Given the description of an element on the screen output the (x, y) to click on. 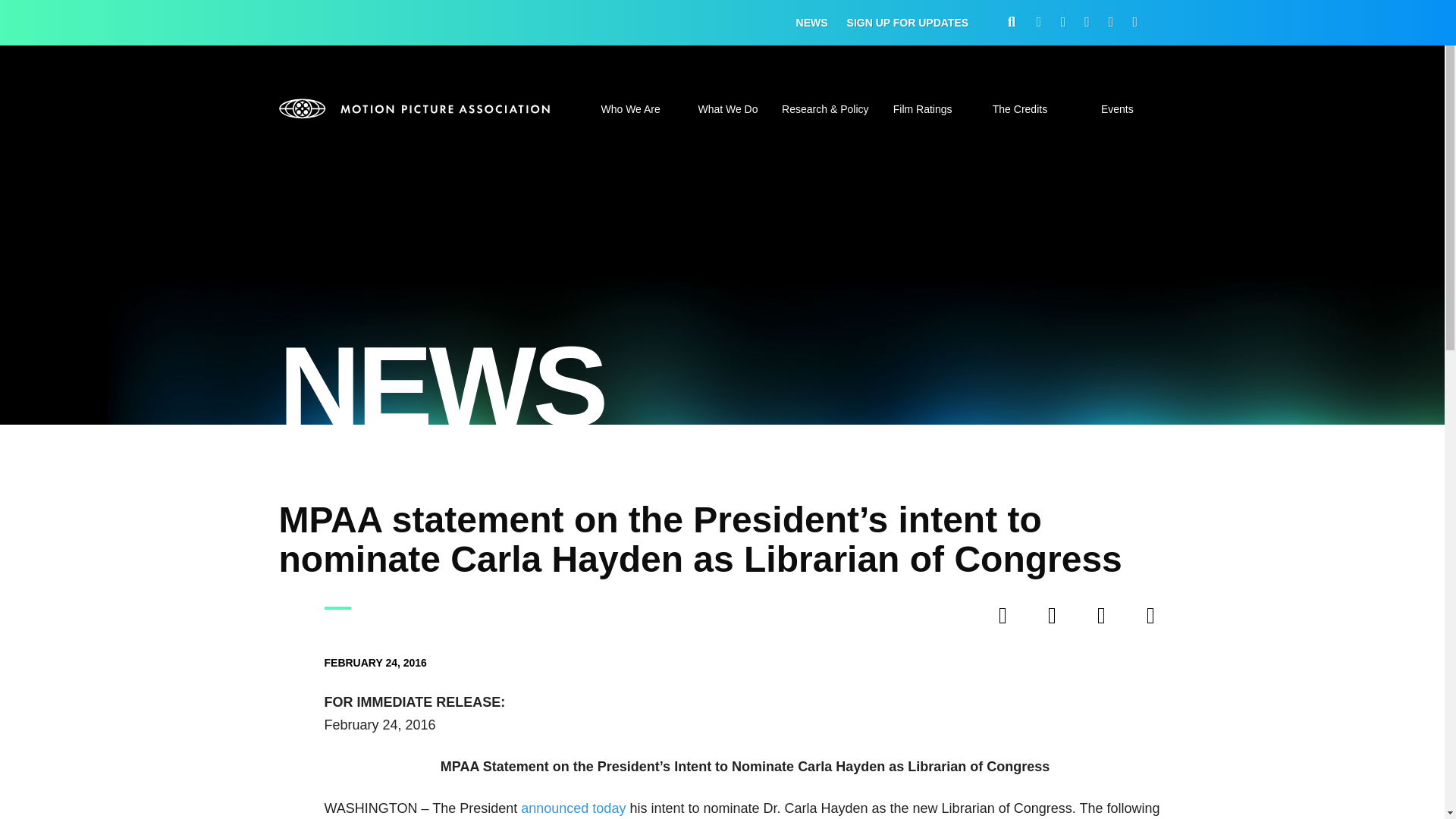
Who We Are (629, 117)
SIGN UP FOR UPDATES (908, 22)
NEWS (812, 22)
mpa-banner-bt (415, 108)
Search (1077, 408)
mpa-banner-bt (415, 108)
